Given the description of an element on the screen output the (x, y) to click on. 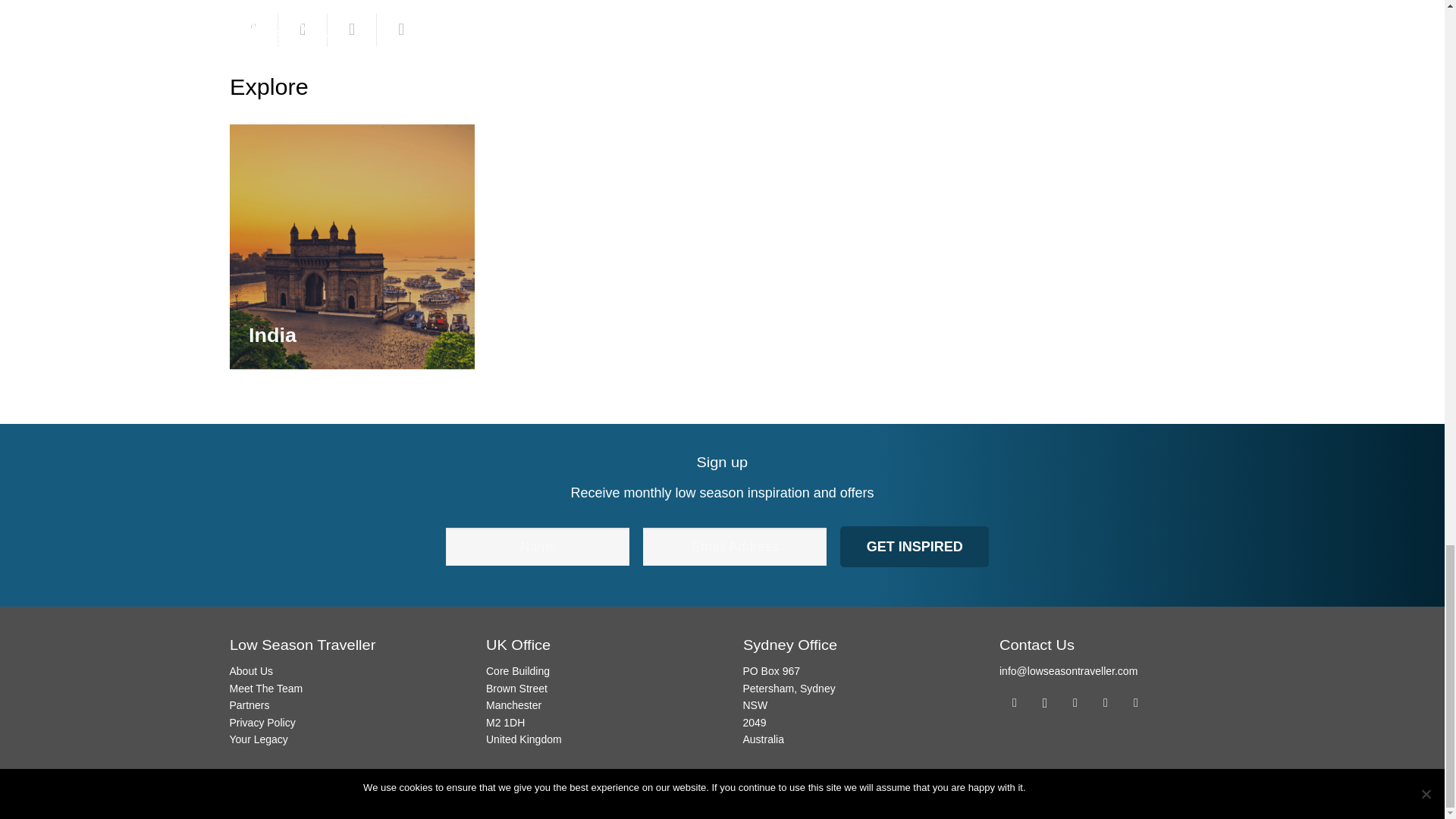
About Us (250, 671)
Email this (253, 29)
Share this (401, 29)
Twitter (1074, 702)
LinkedIn (1105, 702)
Tweet this (352, 29)
Instagram (1044, 702)
Get Inspired (914, 546)
Get Inspired (914, 546)
India (272, 335)
Share this (302, 29)
YouTube (1136, 702)
Facebook (1013, 702)
